Given the description of an element on the screen output the (x, y) to click on. 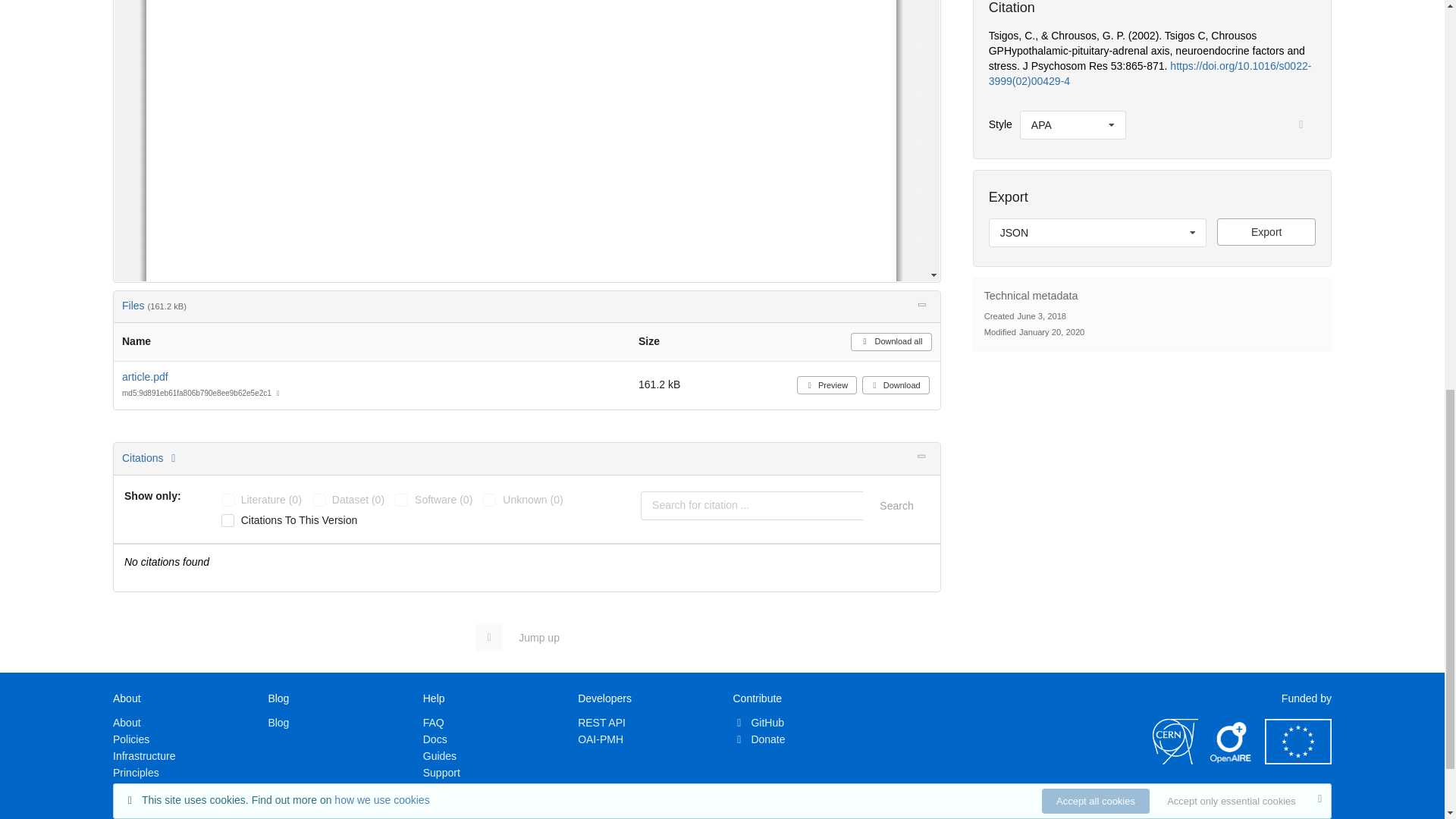
Download all (890, 341)
article.pdf (145, 377)
Support (441, 772)
Policies (131, 739)
Contact (131, 817)
Blog (277, 722)
About (127, 722)
Jump up (525, 637)
Infrastructure (143, 756)
Download (895, 384)
Download file (1266, 231)
FAQ (433, 722)
Search (895, 505)
Principles (135, 772)
